Given the description of an element on the screen output the (x, y) to click on. 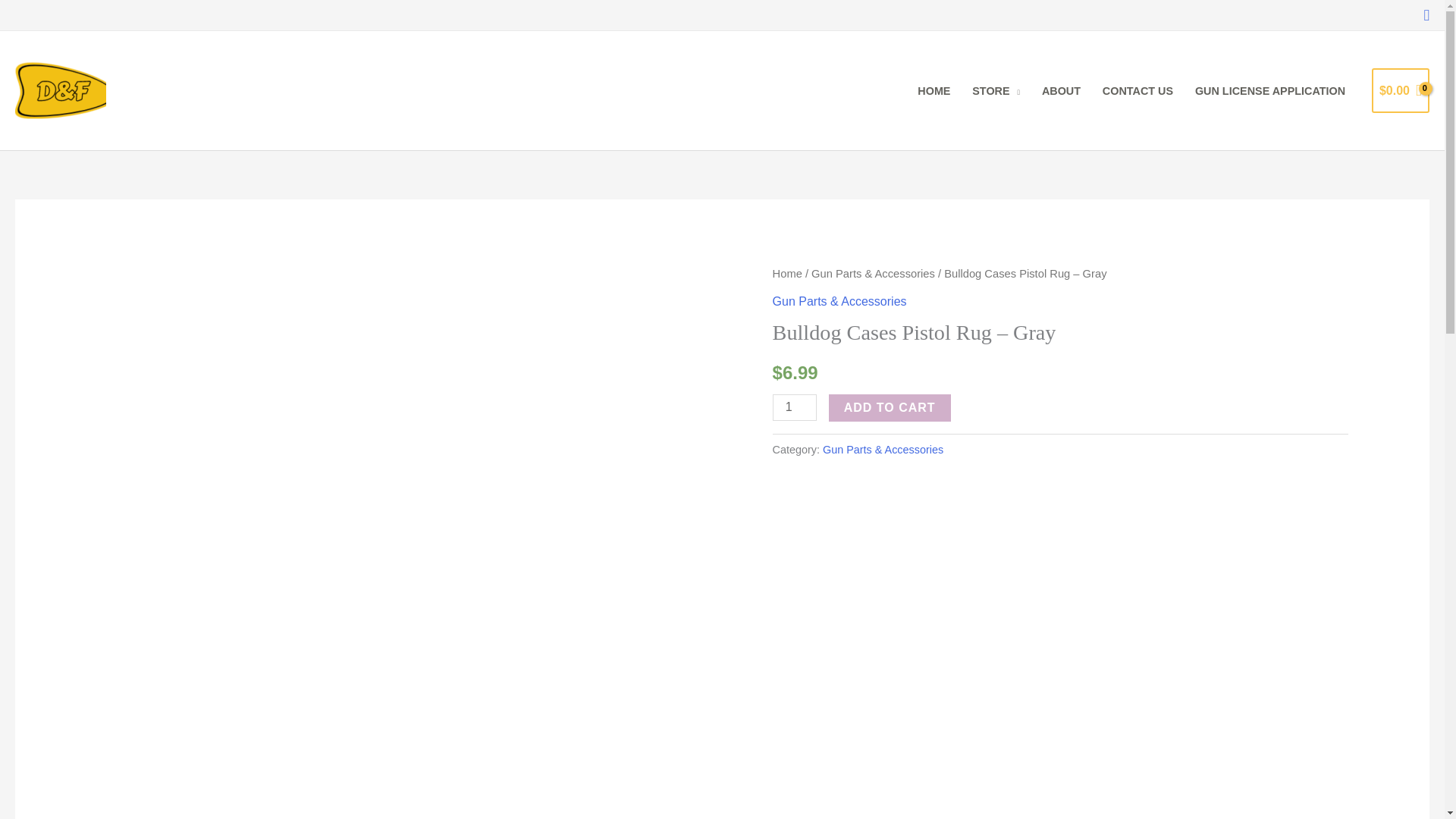
GUN LICENSE APPLICATION (1270, 90)
ABOUT (1061, 90)
CONTACT US (1136, 90)
HOME (933, 90)
STORE (995, 90)
1 (794, 406)
